Given the description of an element on the screen output the (x, y) to click on. 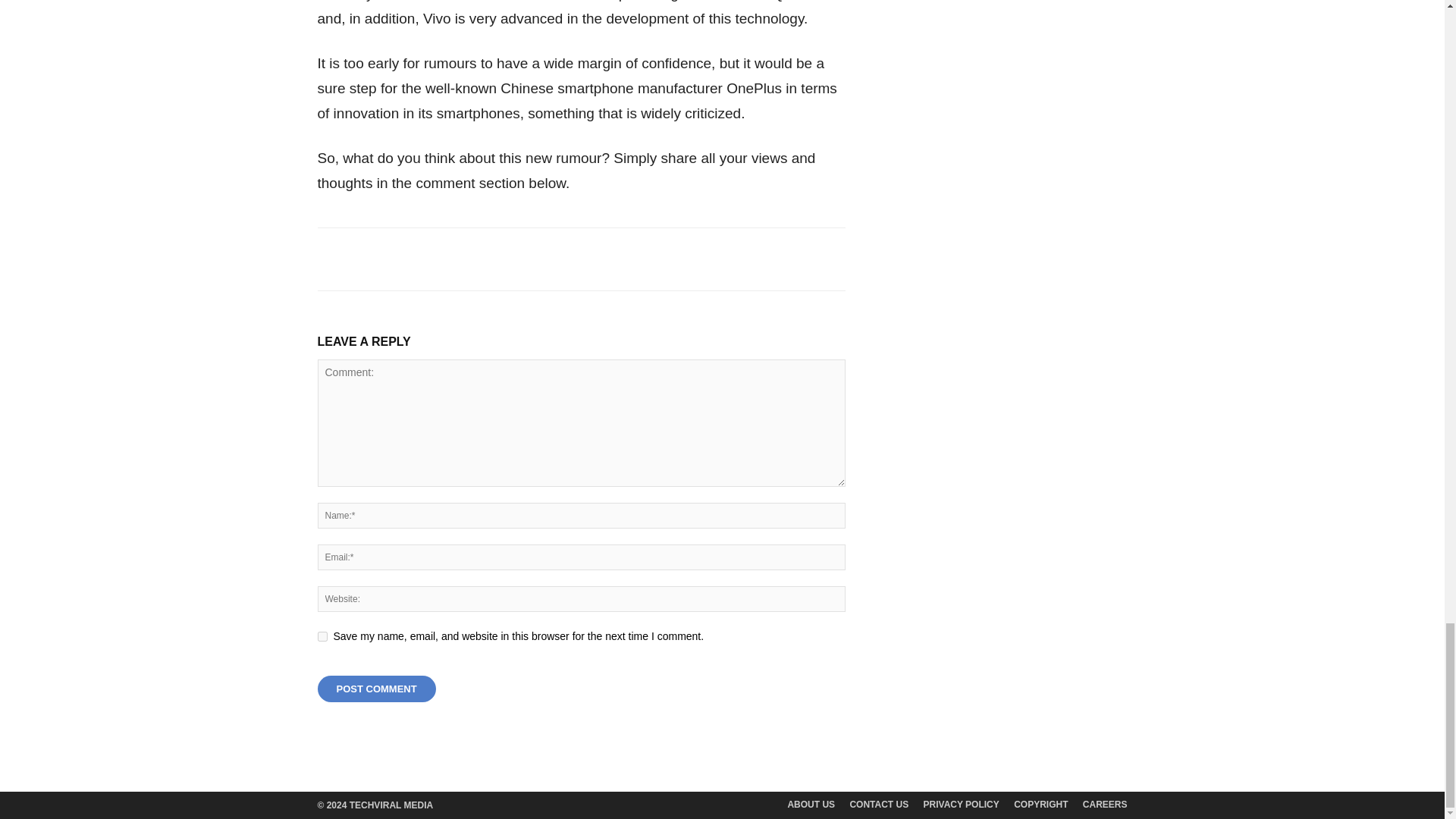
Post Comment (376, 688)
yes (321, 636)
